Given the description of an element on the screen output the (x, y) to click on. 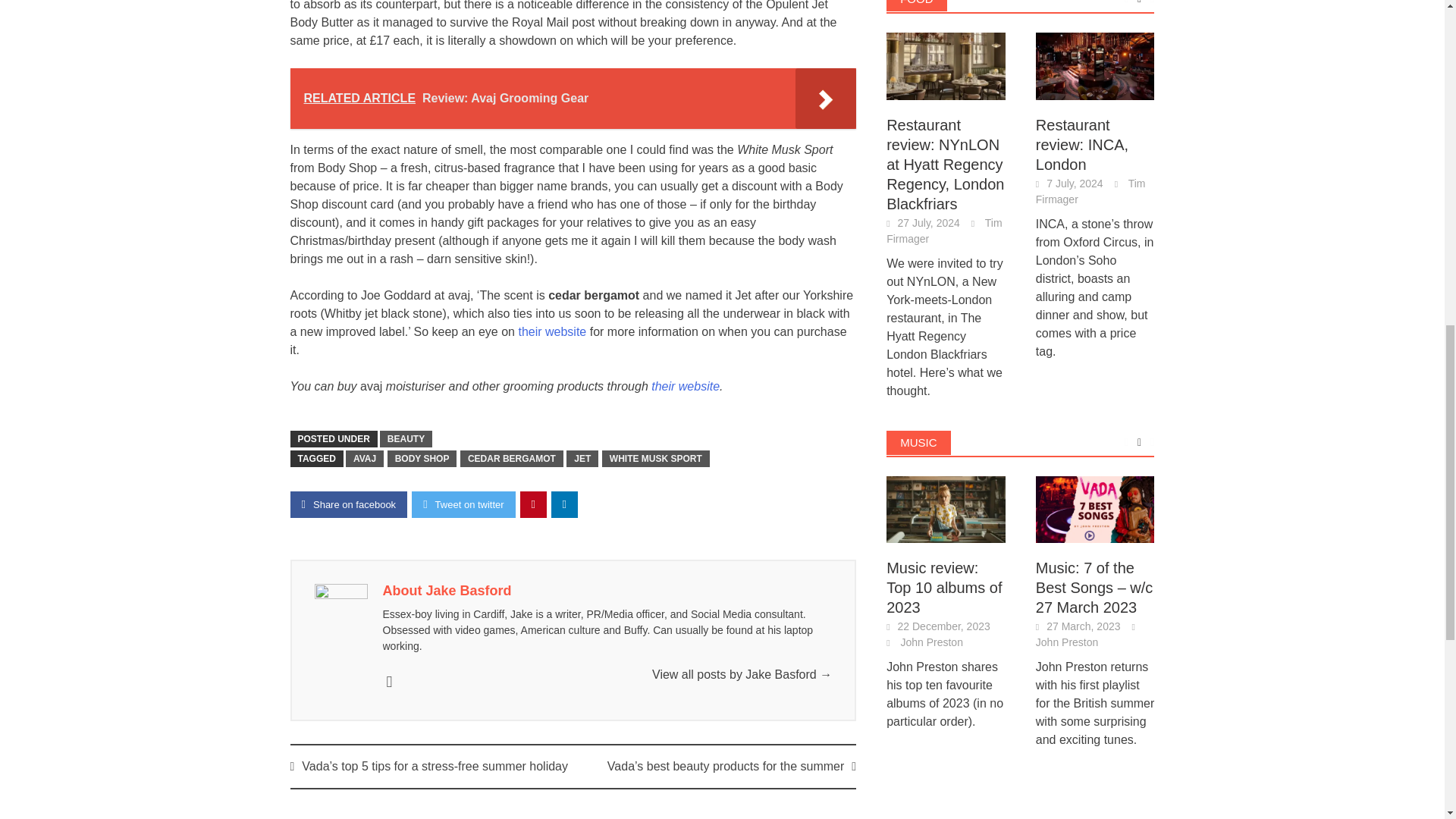
Restaurant review: INCA, London (1094, 64)
Restaurant review: INCA, London (1094, 65)
